Given the description of an element on the screen output the (x, y) to click on. 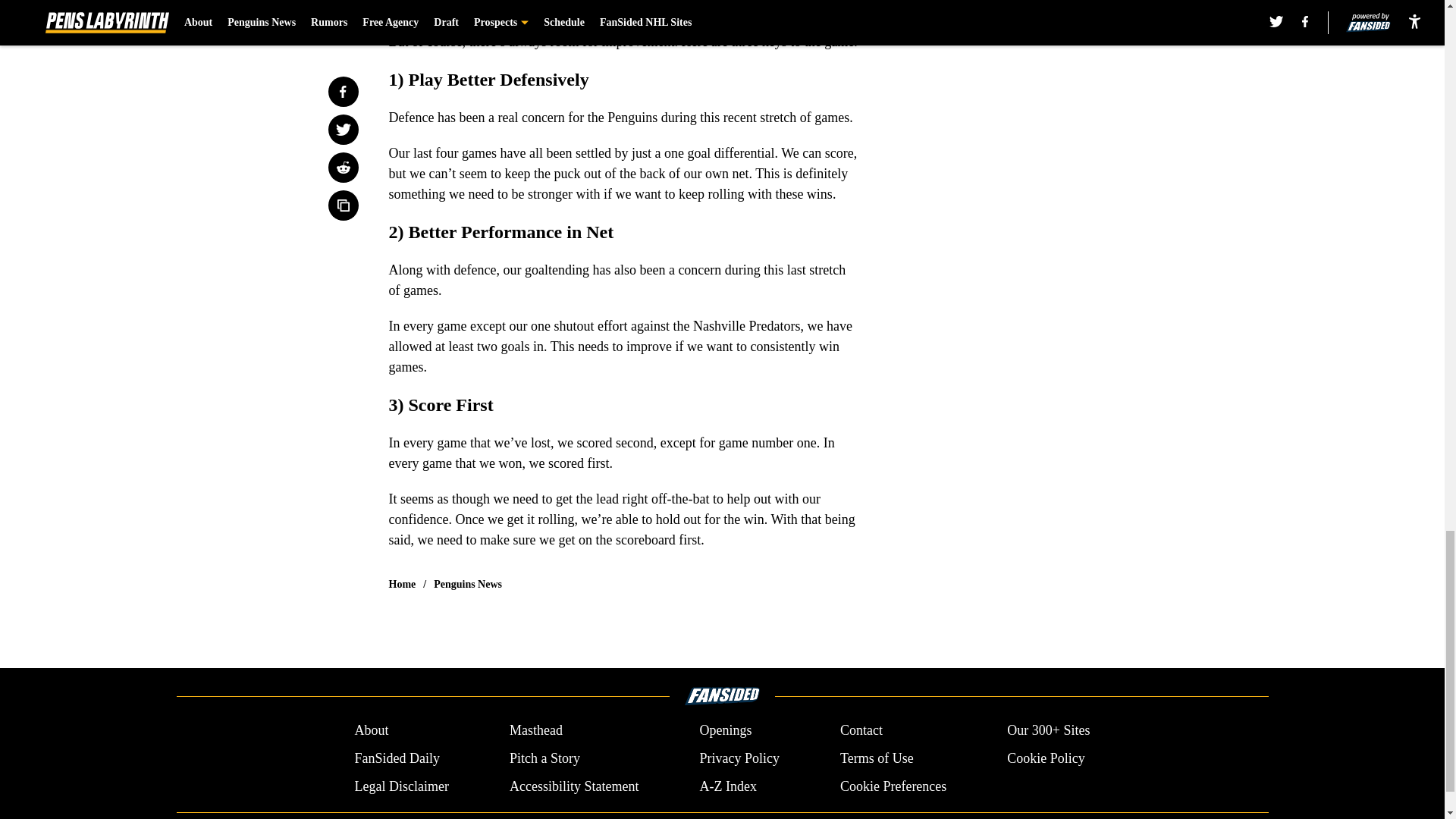
Accessibility Statement (574, 786)
Masthead (535, 730)
Pitch a Story (544, 758)
Privacy Policy (738, 758)
Penguins News (467, 584)
Cookie Preferences (893, 786)
Cookie Policy (1045, 758)
A-Z Index (726, 786)
Terms of Use (877, 758)
Contact (861, 730)
About (370, 730)
Home (401, 584)
Legal Disclaimer (400, 786)
Openings (724, 730)
FanSided Daily (396, 758)
